Given the description of an element on the screen output the (x, y) to click on. 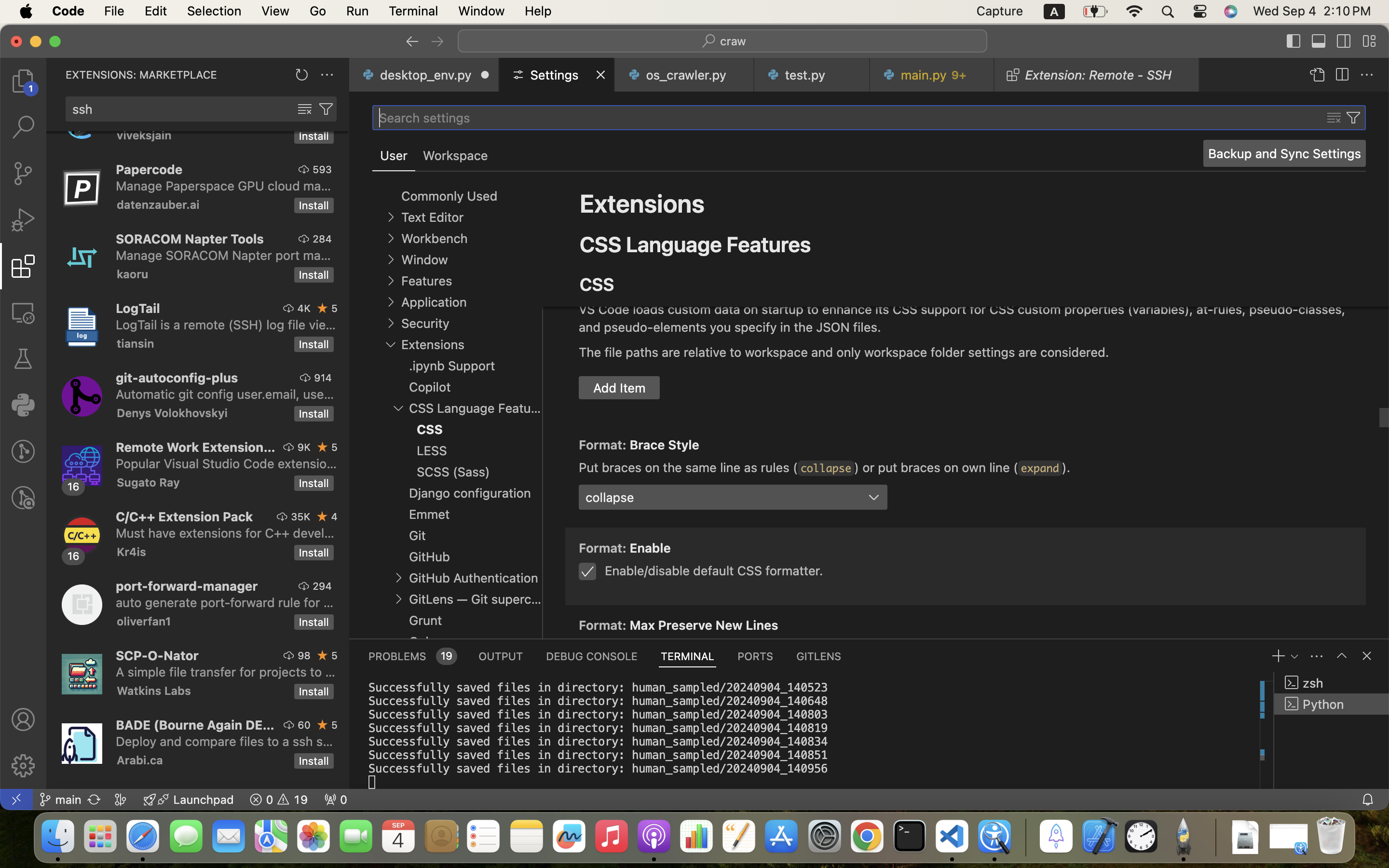
 Element type: AXButton (304, 108)
SORACOM Napter Tools Element type: AXStaticText (189, 238)
294 Element type: AXStaticText (321, 585)
 Element type: AXGroup (23, 719)
SCP-O-Nator Element type: AXStaticText (156, 655)
